Given the description of an element on the screen output the (x, y) to click on. 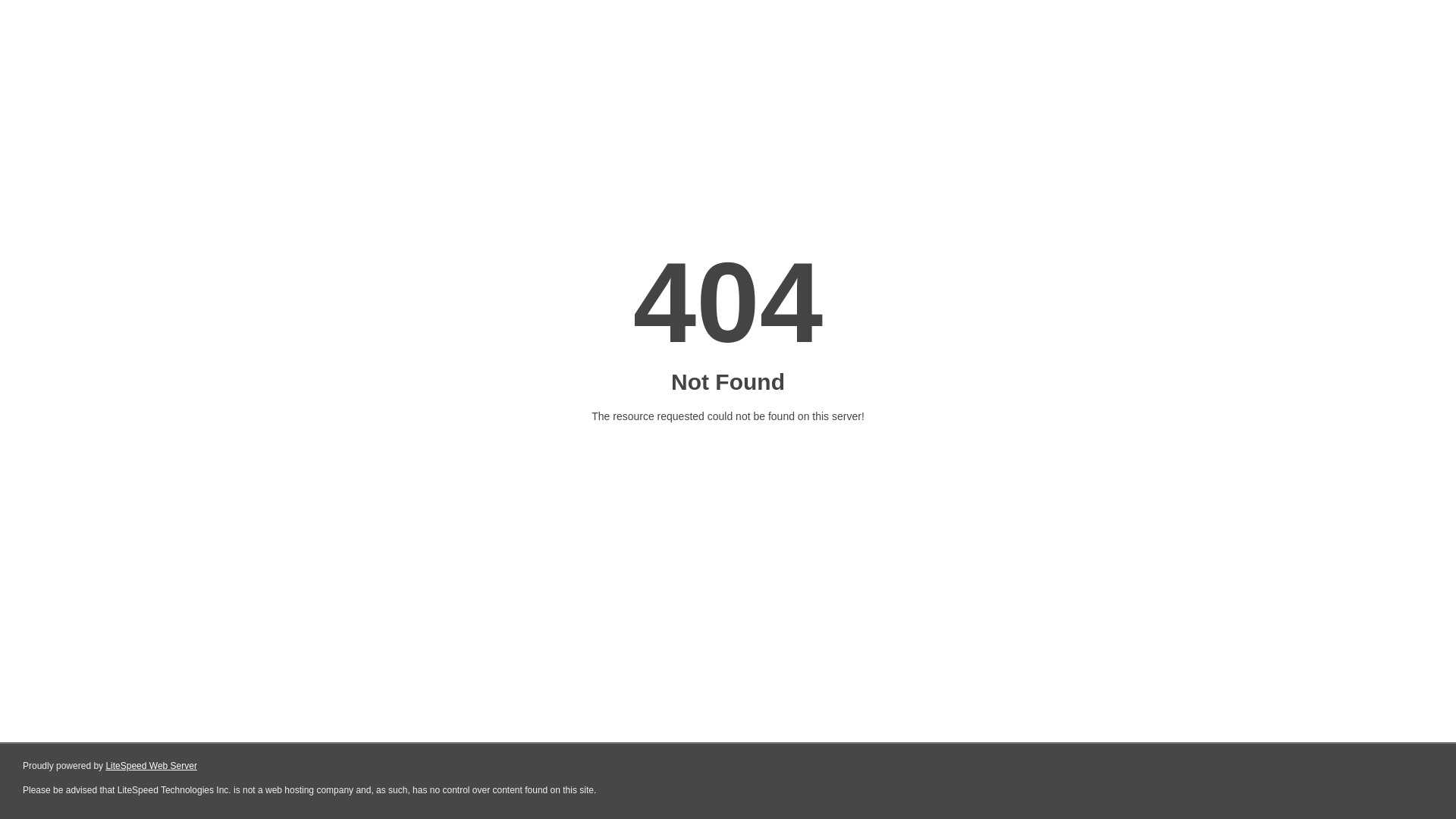
LiteSpeed Web Server Element type: text (151, 765)
